Given the description of an element on the screen output the (x, y) to click on. 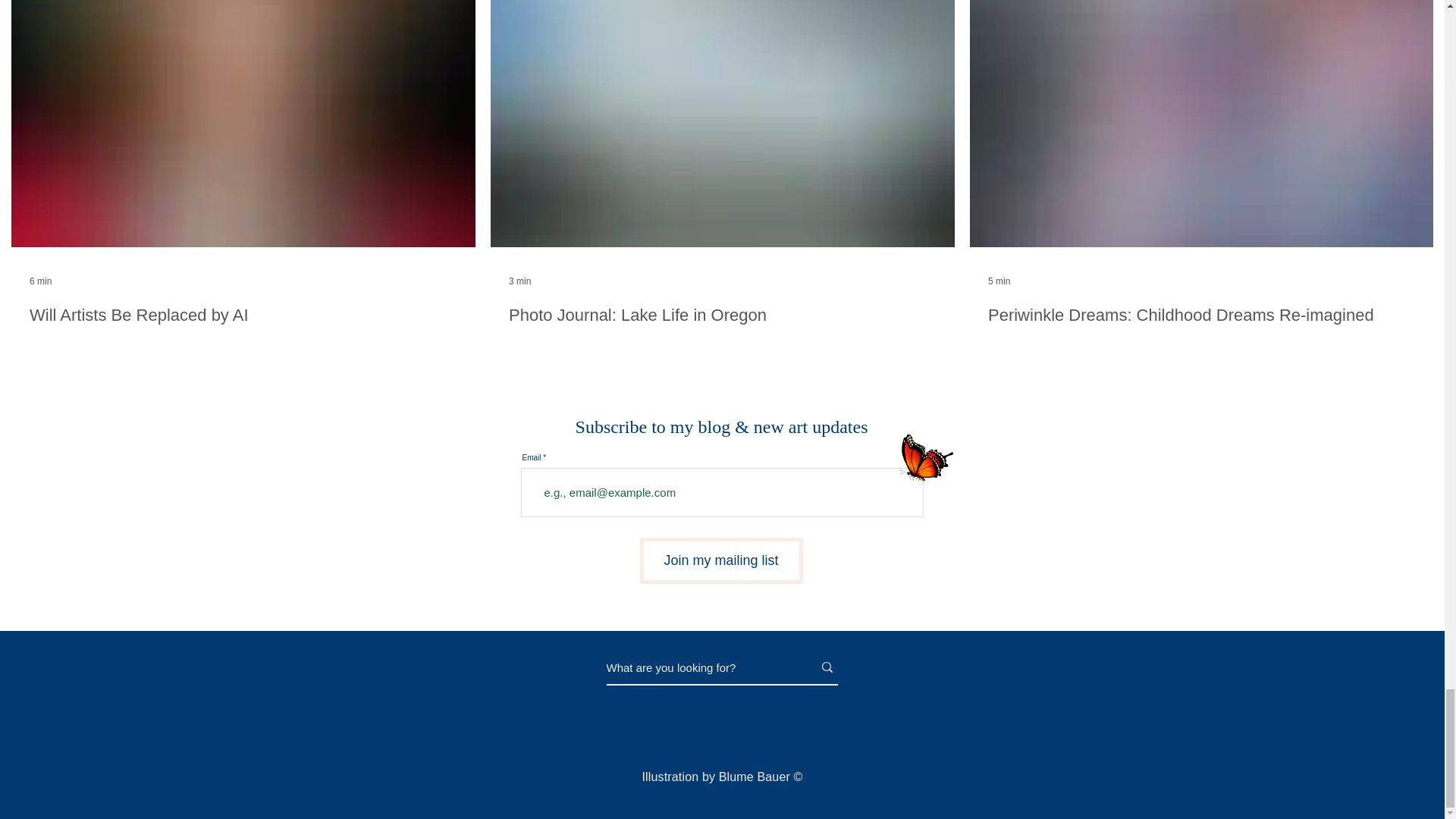
6 min (39, 281)
3 min (519, 281)
Will Artists Be Replaced by AI (243, 315)
Join my mailing list (721, 560)
5 min (999, 281)
Periwinkle Dreams: Childhood Dreams Re-imagined (1201, 315)
Photo Journal: Lake Life in Oregon (722, 315)
